Given the description of an element on the screen output the (x, y) to click on. 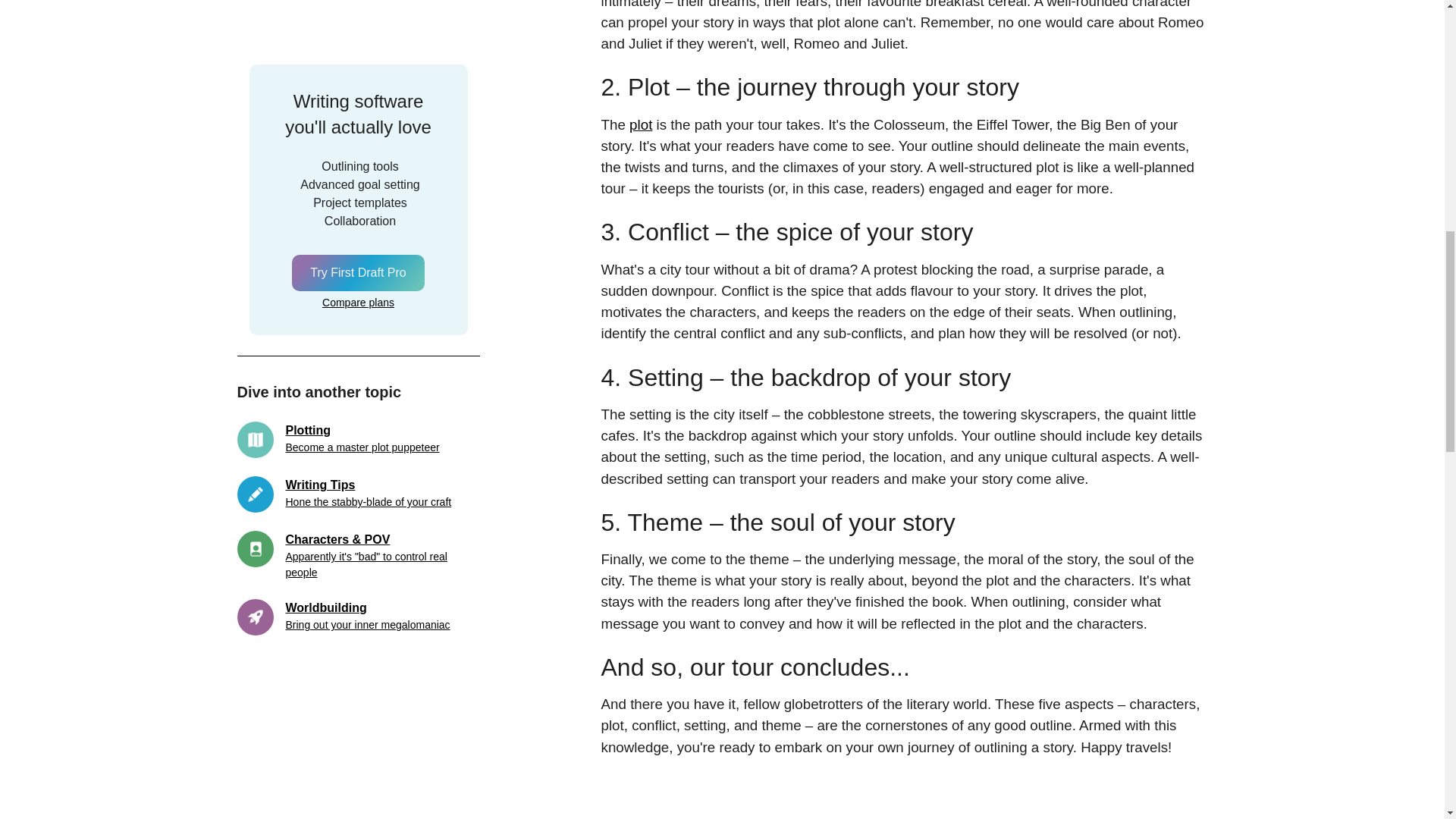
Compare plans (357, 9)
plot (357, 207)
